Given the description of an element on the screen output the (x, y) to click on. 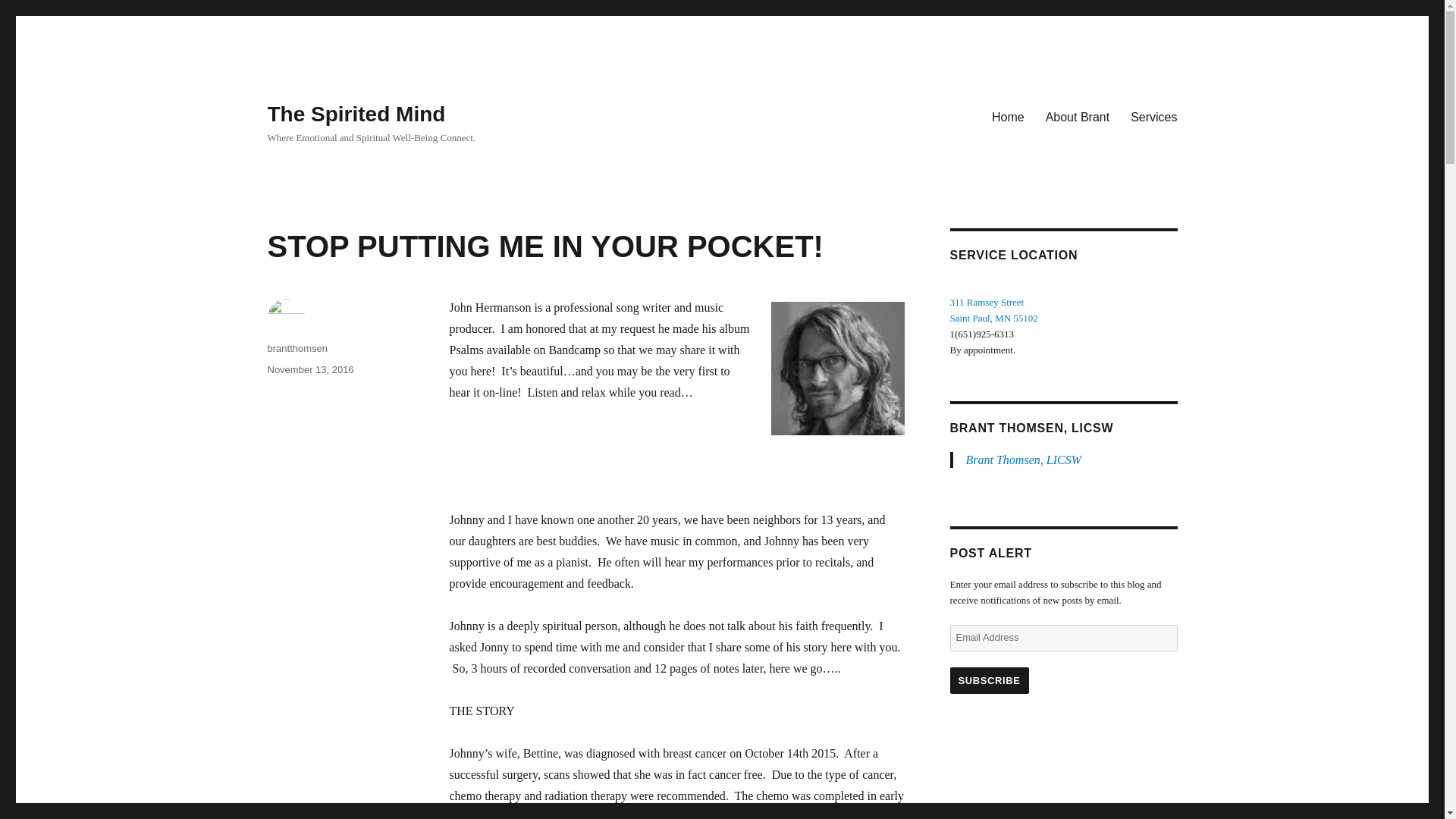
Home (1008, 116)
November 13, 2016 (992, 317)
The Spirited Mind (309, 369)
SUBSCRIBE (355, 114)
Services (988, 680)
Brant Thomsen, LICSW (1153, 116)
BRANT THOMSEN, LICSW (1023, 459)
brantthomsen (1031, 427)
About Brant (296, 348)
